Given the description of an element on the screen output the (x, y) to click on. 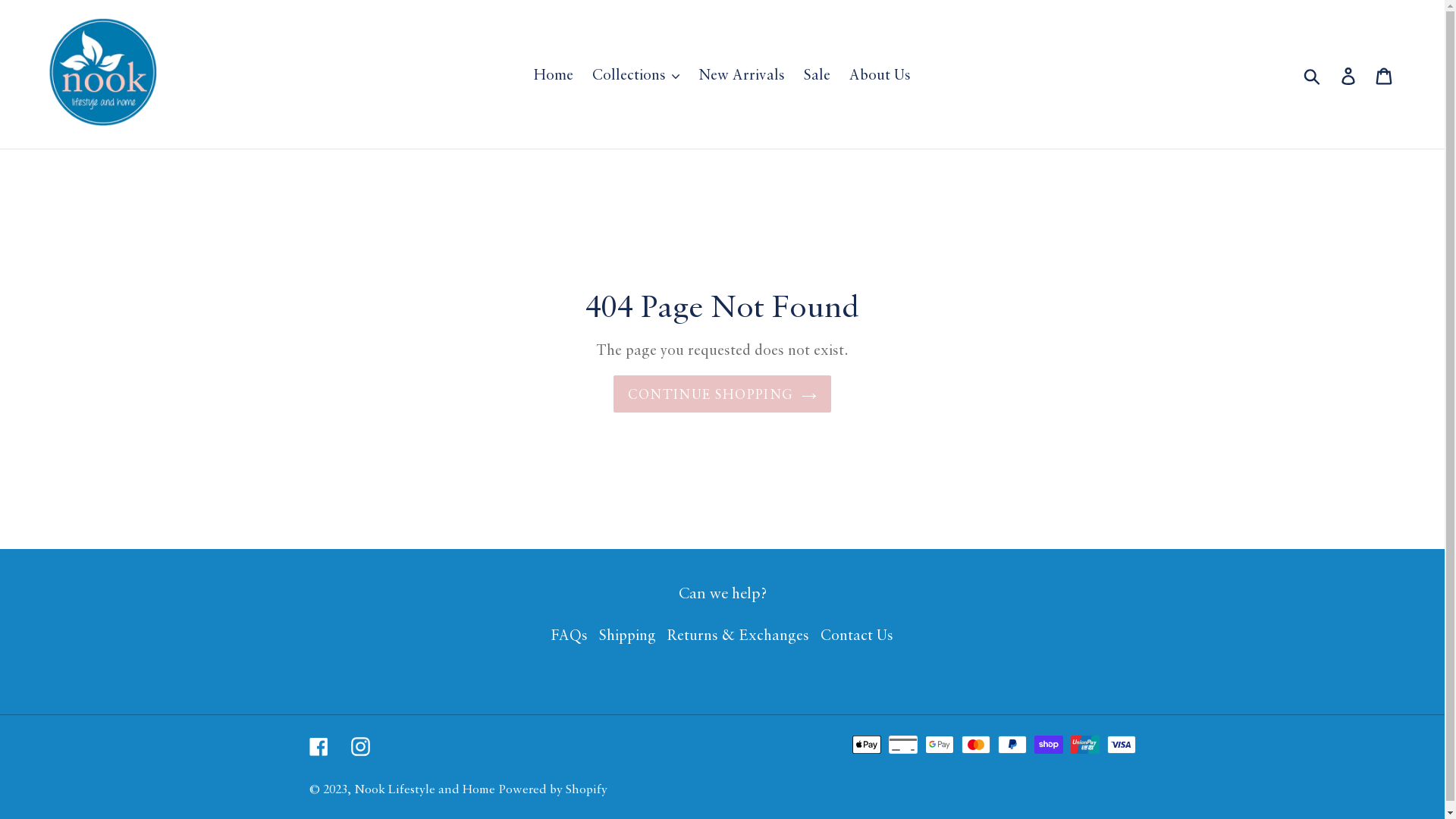
CONTINUE SHOPPING Element type: text (721, 393)
Sale Element type: text (816, 73)
Instagram Element type: text (359, 743)
Log in Element type: text (1349, 74)
Returns & Exchanges Element type: text (738, 633)
Powered by Shopify Element type: text (552, 788)
Facebook Element type: text (318, 743)
About Us Element type: text (879, 73)
Nook Lifestyle and Home Element type: text (423, 788)
Contact Us Element type: text (856, 633)
Submit Element type: text (1312, 73)
Shipping Element type: text (627, 633)
Cart Element type: text (1384, 74)
New Arrivals Element type: text (741, 73)
FAQs Element type: text (569, 633)
Home Element type: text (553, 73)
